Given the description of an element on the screen output the (x, y) to click on. 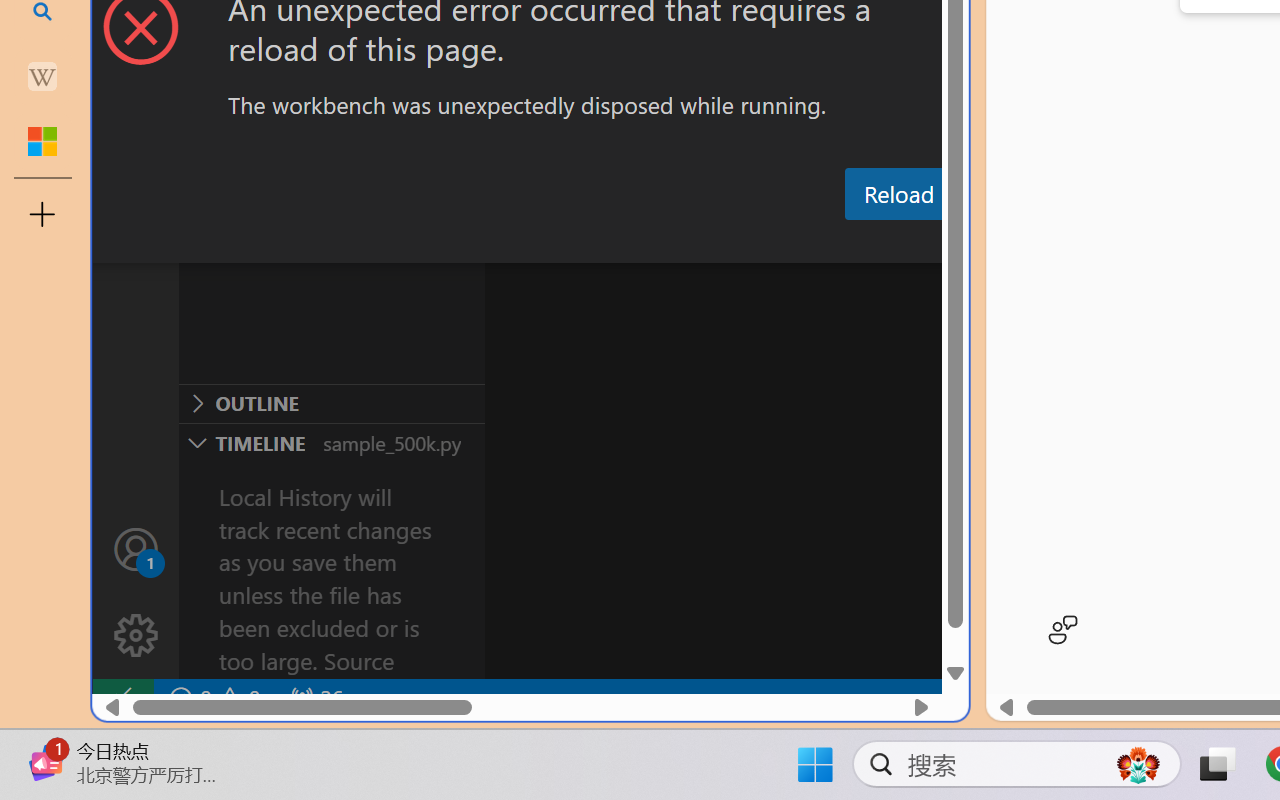
Outline Section (331, 403)
Timeline Section (331, 442)
Accounts - Sign in requested (135, 548)
